Given the description of an element on the screen output the (x, y) to click on. 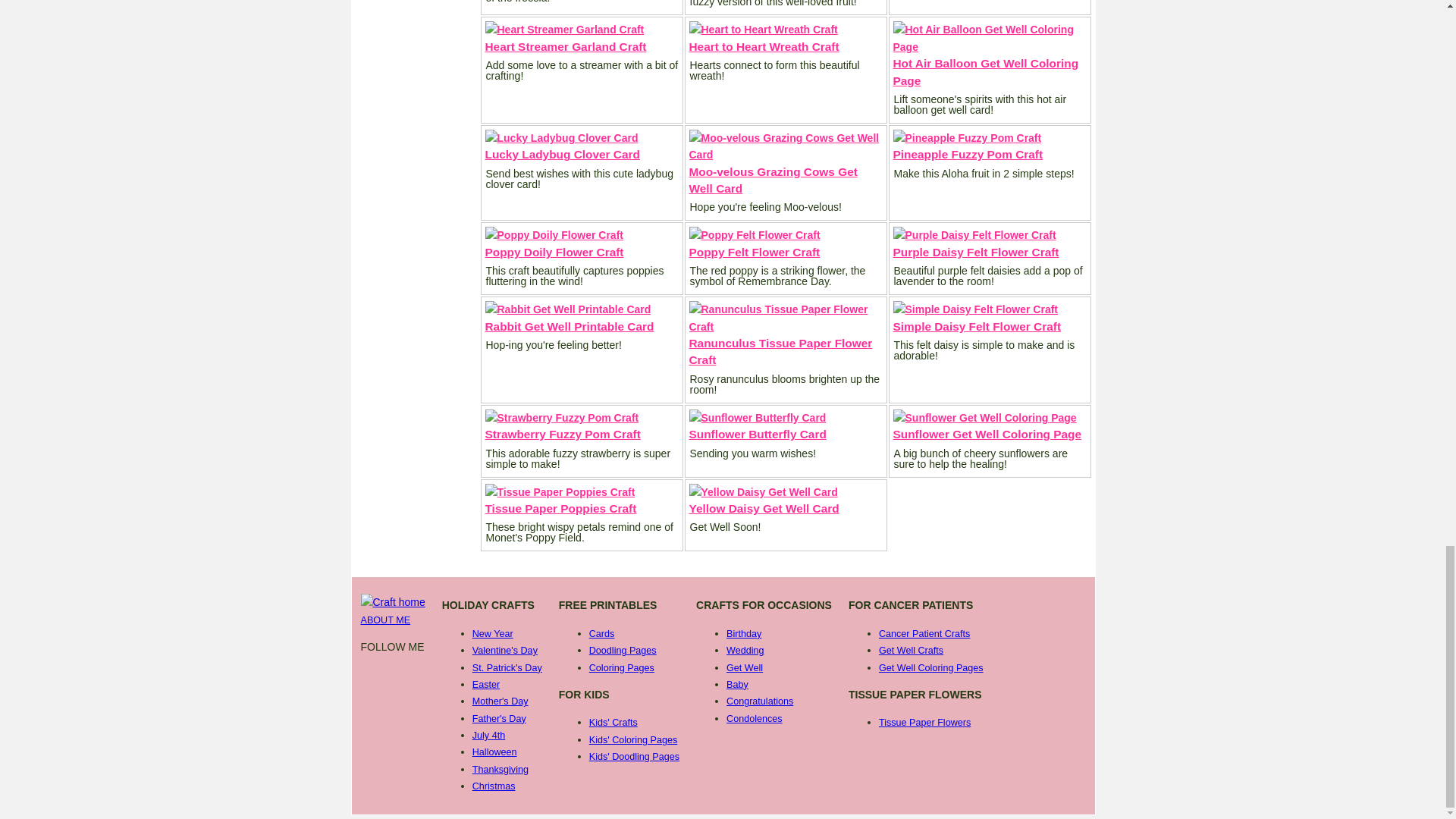
LittleMissCraft.com (393, 602)
About (385, 620)
